Given the description of an element on the screen output the (x, y) to click on. 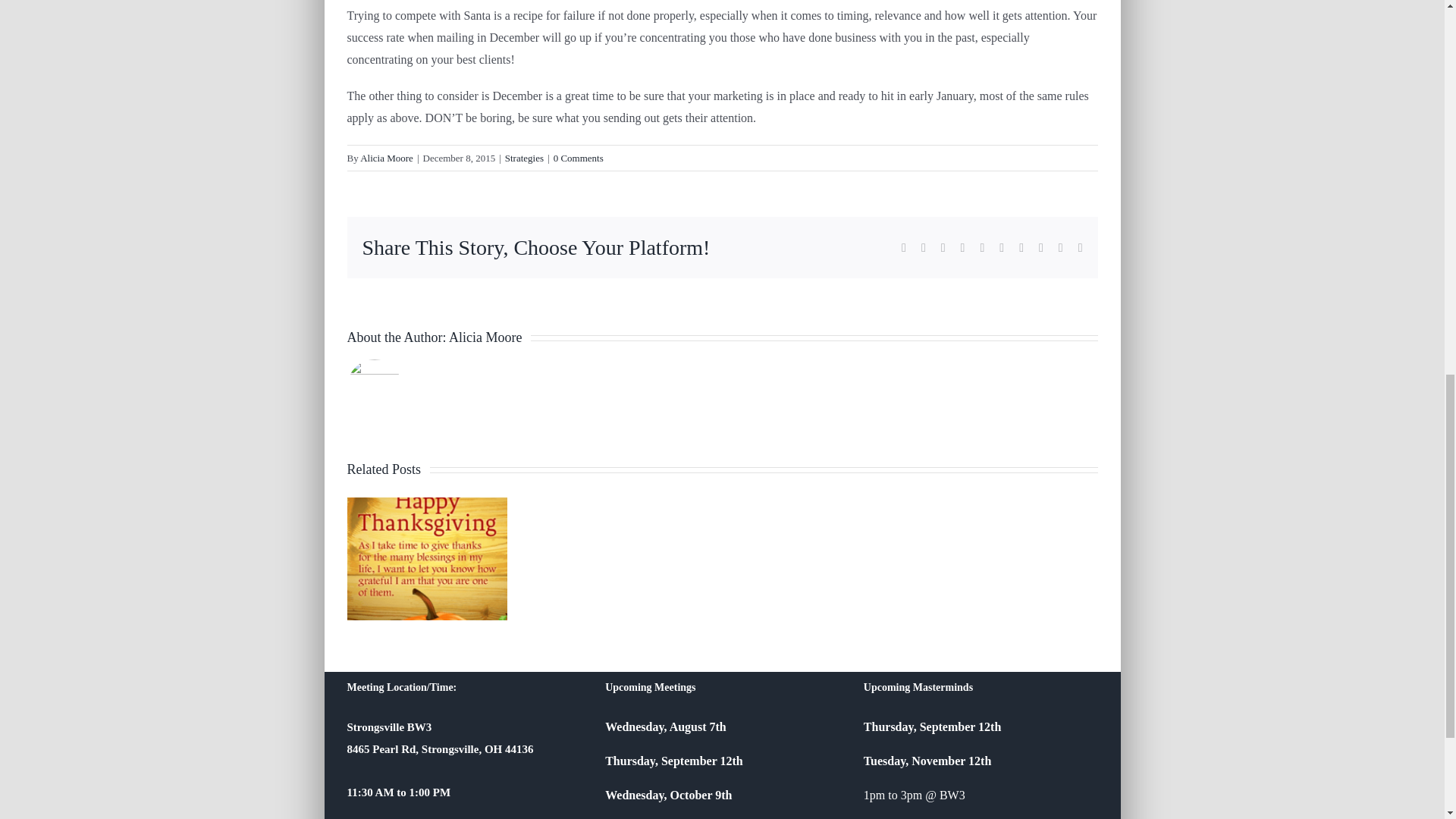
Alicia Moore (484, 337)
0 Comments (578, 157)
Posts by Alicia Moore (386, 157)
Alicia Moore (386, 157)
Strategies (524, 157)
Posts by Alicia Moore (484, 337)
